Given the description of an element on the screen output the (x, y) to click on. 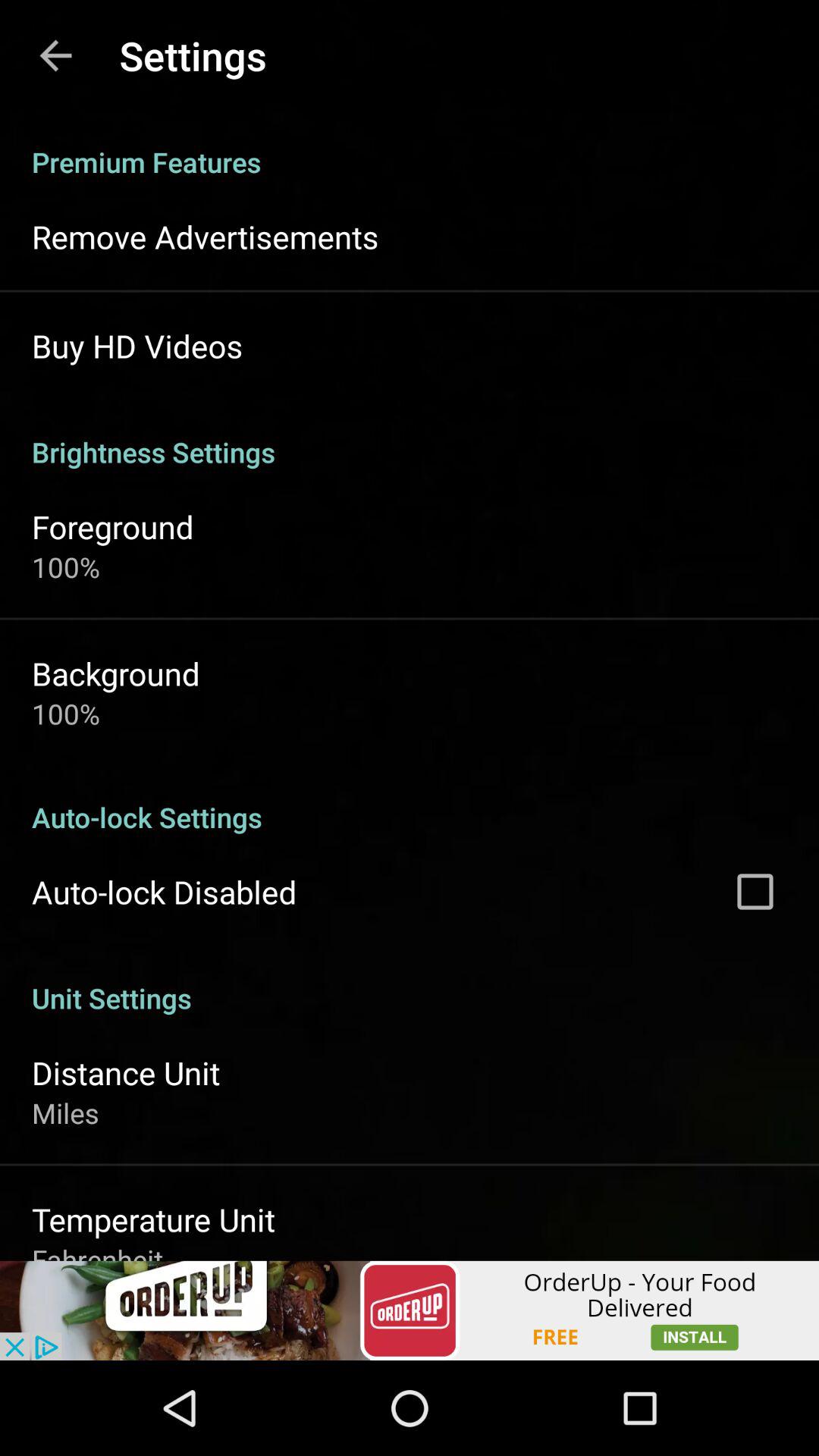
open advertisement (409, 1310)
